Given the description of an element on the screen output the (x, y) to click on. 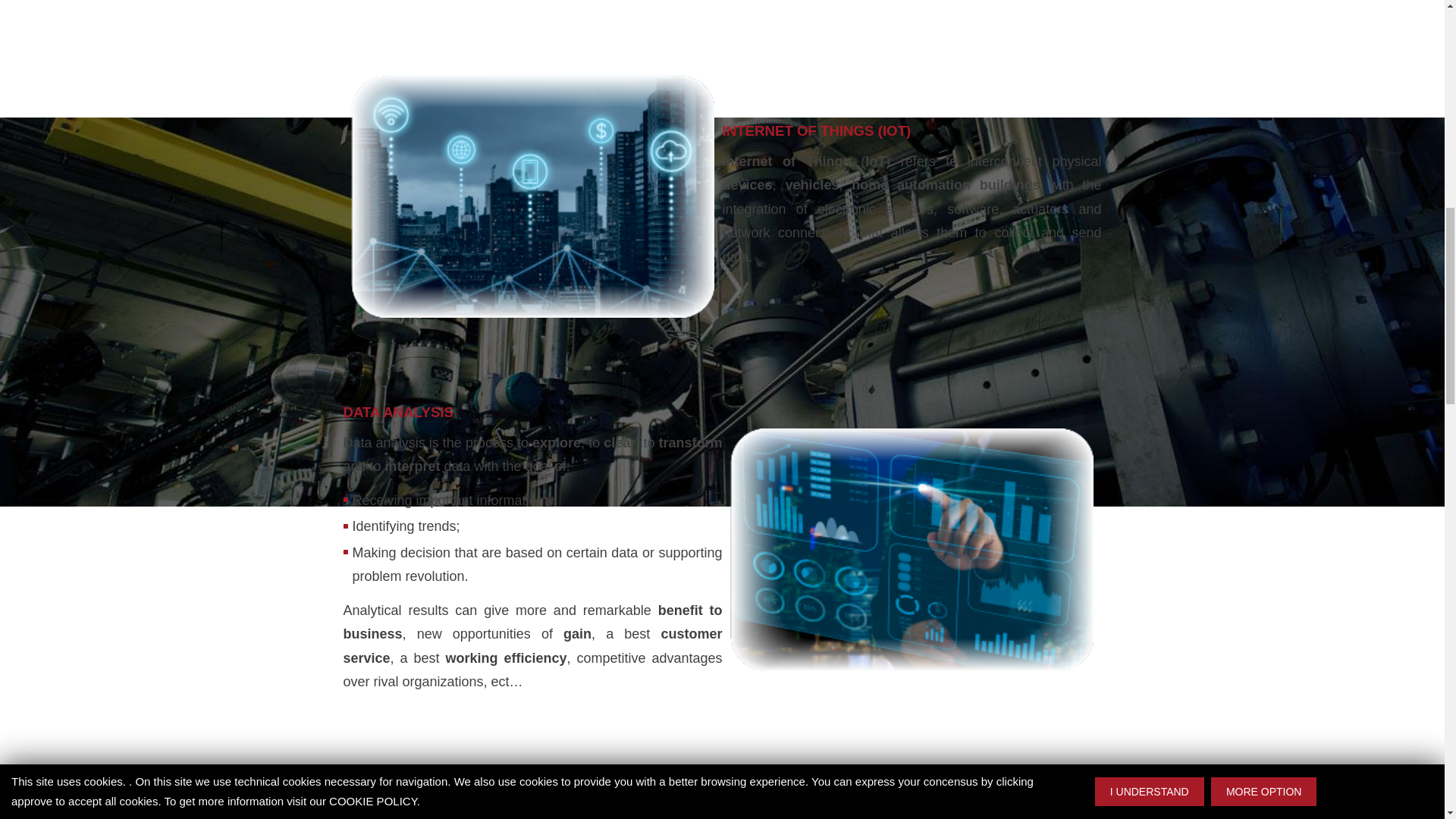
Data Analysis (911, 549)
